Given the description of an element on the screen output the (x, y) to click on. 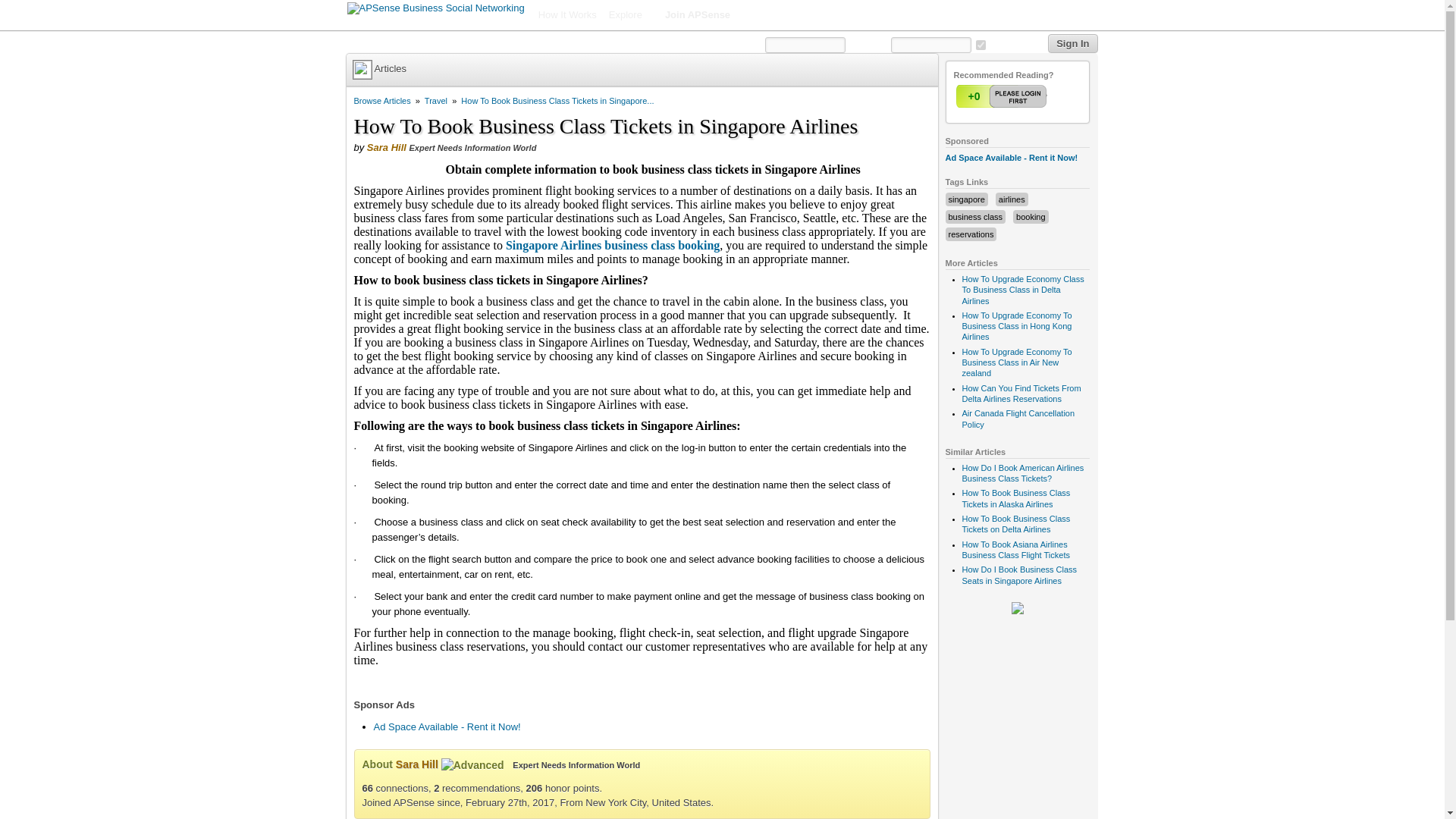
1 (980, 44)
Sara Hill (386, 147)
Sara Hill (417, 764)
Singapore Airlines business class booking (612, 245)
Ad Space Available - Rent it Now! (445, 726)
Travel (435, 100)
How It Works (567, 15)
Votes Up (973, 96)
